Given the description of an element on the screen output the (x, y) to click on. 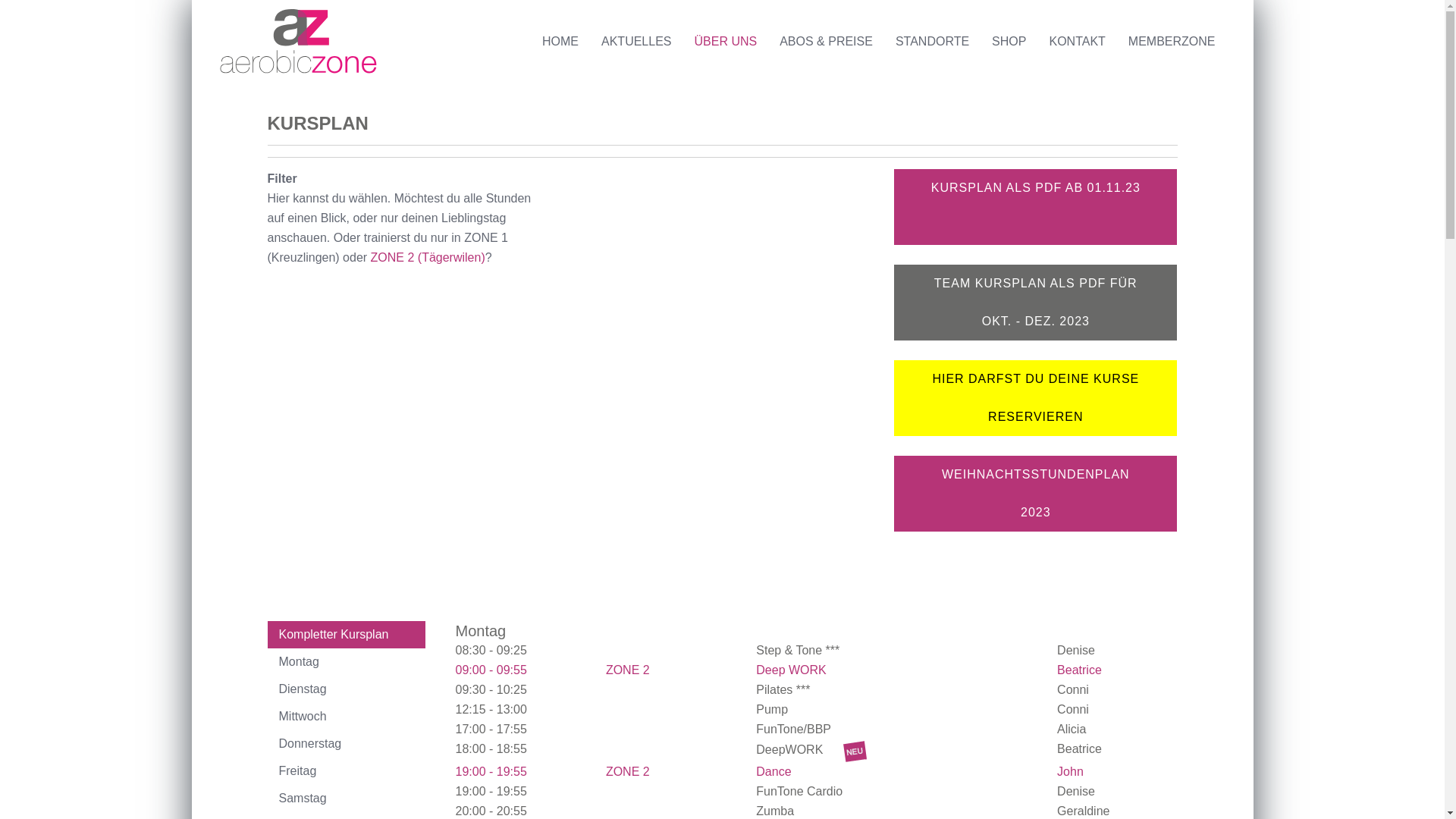
Dienstag Element type: text (345, 688)
HIER DARFST DU DEINE KURSE RESERVIEREN Element type: text (1035, 398)
Mittwoch Element type: text (345, 716)
DeepWORK       Element type: text (811, 749)
FunTone/BBP Element type: text (795, 728)
KONTAKT Element type: text (1076, 41)
WEIHNACHTSSTUNDENPLAN 2023 Element type: text (1035, 493)
AKTUELLES Element type: text (635, 41)
Donnerstag Element type: text (345, 743)
Freitag Element type: text (345, 770)
STANDORTE Element type: text (932, 41)
Deep WORK Element type: text (792, 669)
FunTone Cardio Element type: text (800, 790)
Pilates *** Element type: text (782, 689)
SHOP Element type: text (1008, 41)
Montag Element type: text (345, 661)
Kompletter Kursplan Element type: text (345, 634)
Zumba Element type: text (776, 810)
Pump Element type: text (773, 708)
KURSPLAN ALS PDF AB 01.11.23     Element type: text (1035, 206)
Dance Element type: text (775, 771)
MEMBERZONE Element type: text (1171, 41)
Step & Tone *** Element type: text (797, 649)
HOME Element type: text (559, 41)
Samstag Element type: text (345, 798)
ABOS & PREISE Element type: text (826, 41)
